Given the description of an element on the screen output the (x, y) to click on. 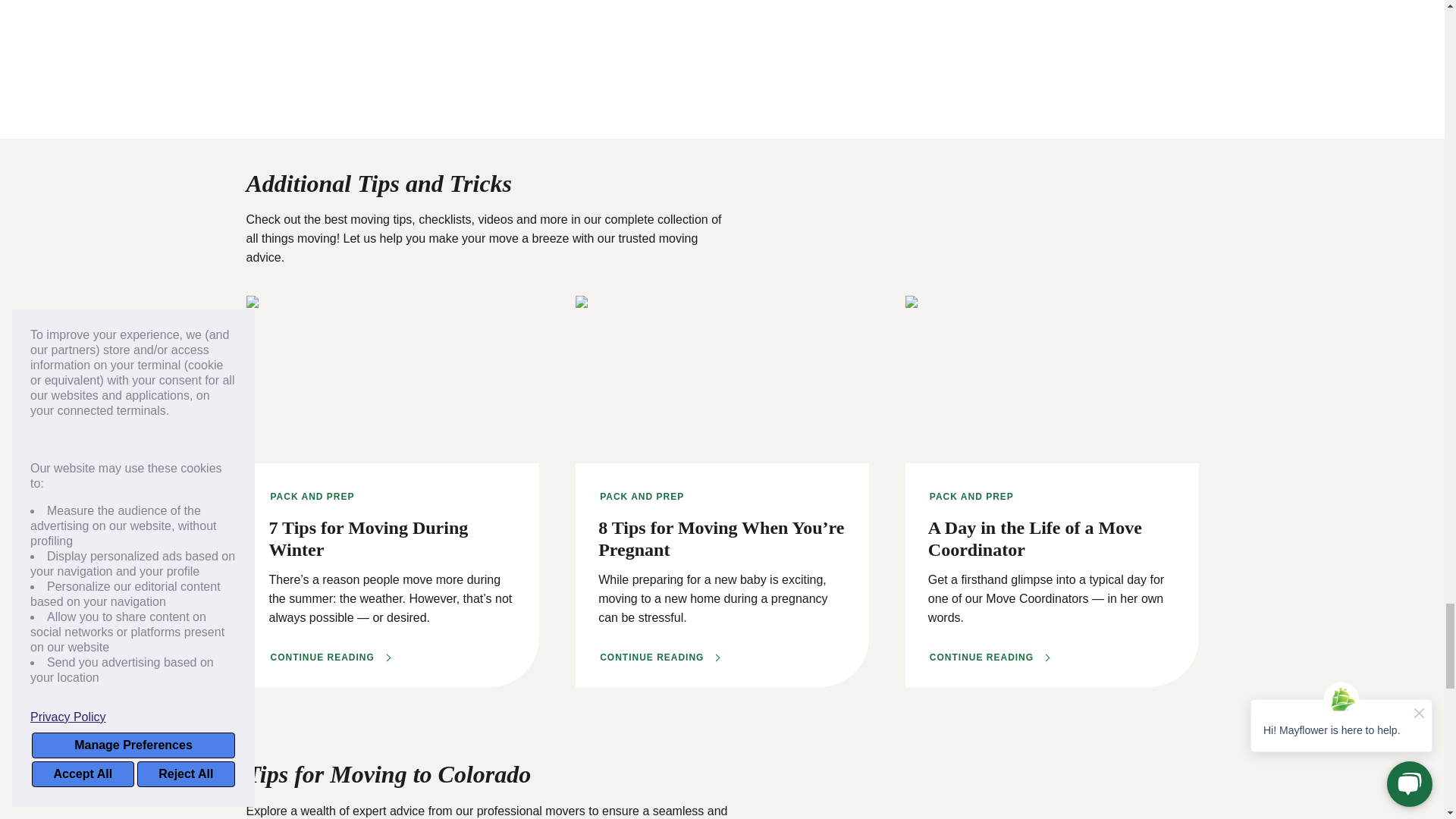
7 Tips for Moving During Winter (328, 657)
A Day in the Life of a Move Coordinator (988, 657)
